Given the description of an element on the screen output the (x, y) to click on. 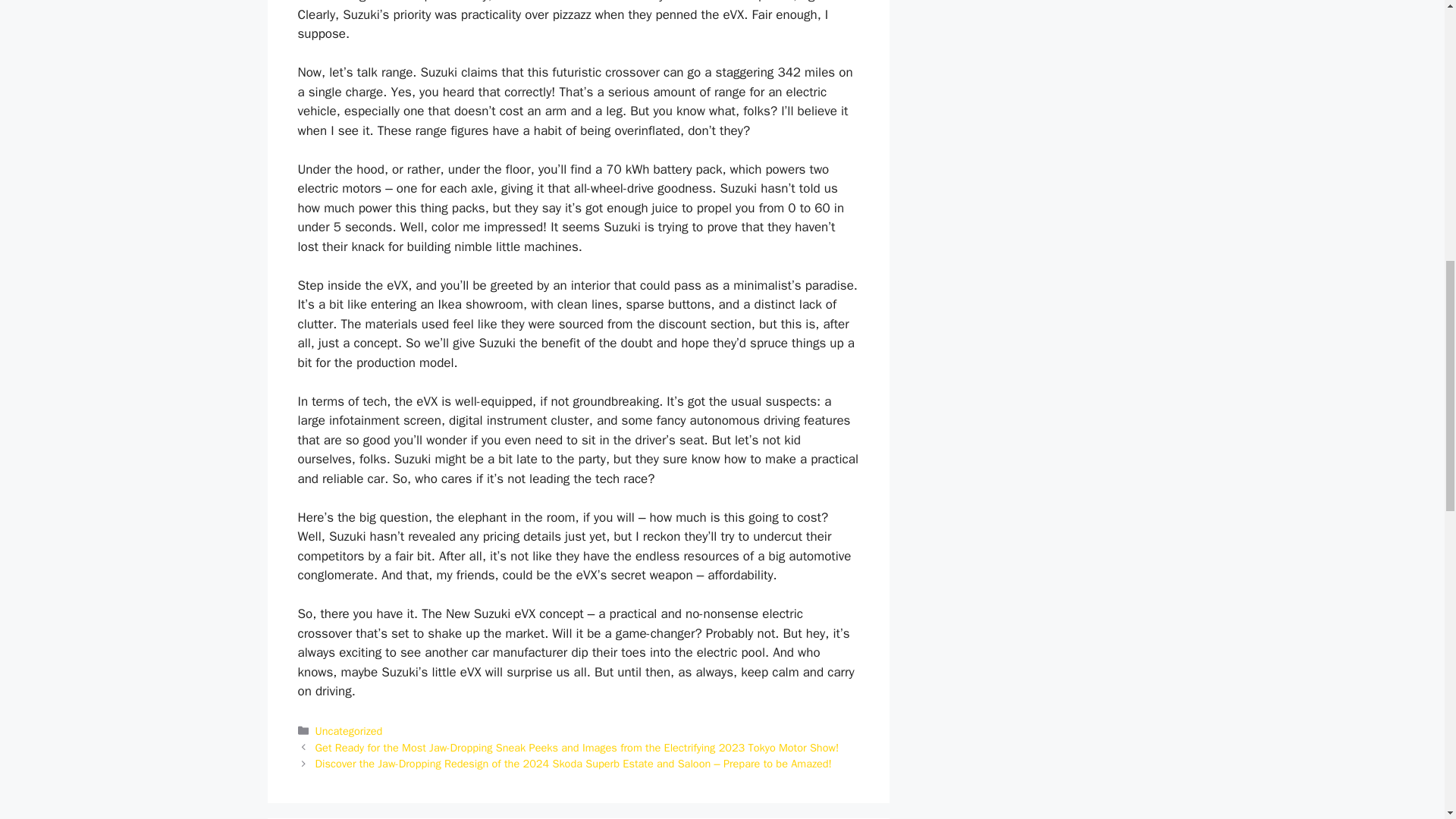
Uncategorized (348, 730)
